Given the description of an element on the screen output the (x, y) to click on. 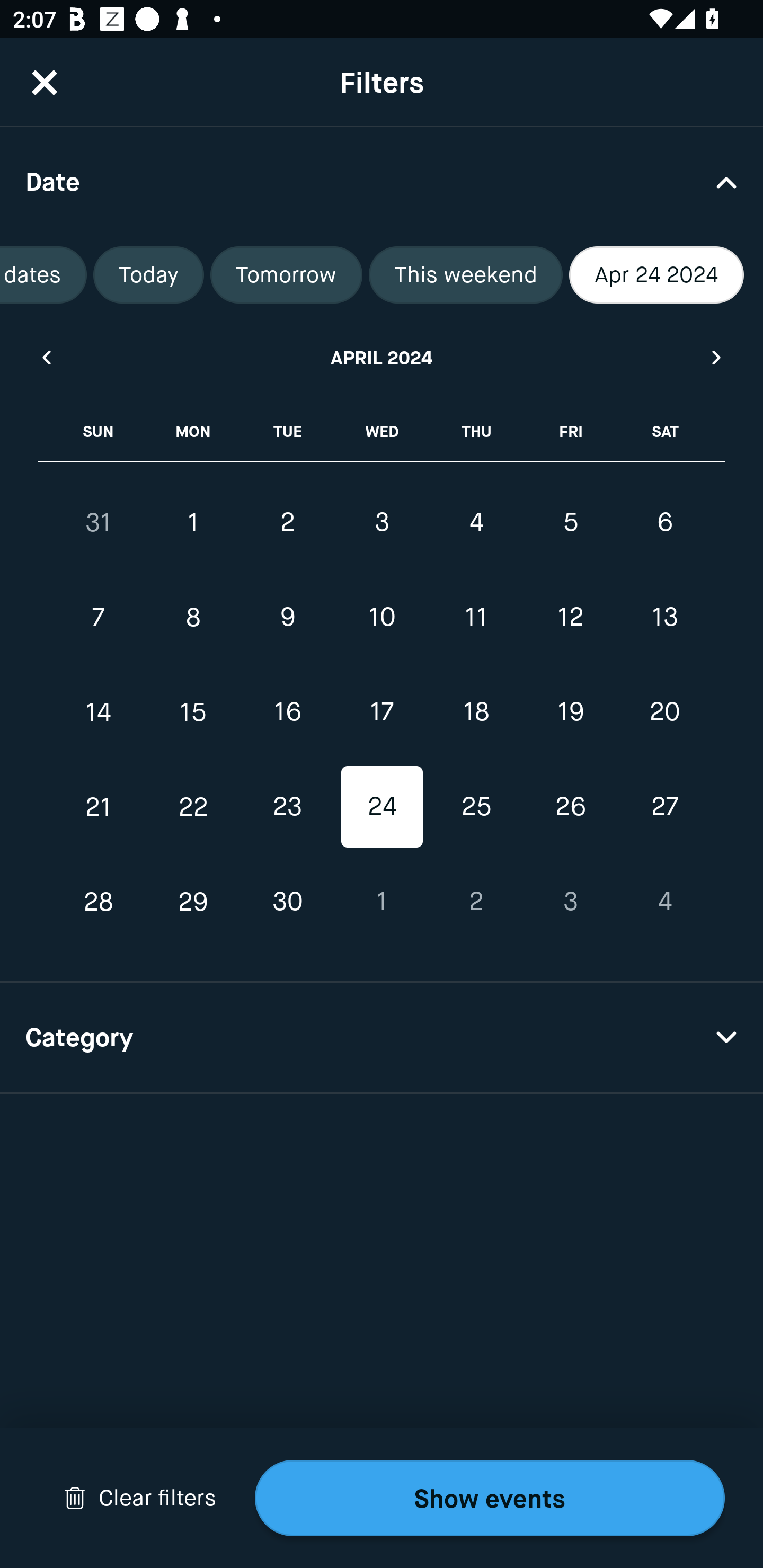
CloseButton (44, 82)
Date Drop Down Arrow (381, 181)
Today (148, 274)
Tomorrow (286, 274)
This weekend (465, 274)
Apr 24 2024 (656, 274)
Previous (45, 357)
Next (717, 357)
31 (98, 522)
1 (192, 522)
2 (287, 522)
3 (381, 522)
4 (475, 522)
5 (570, 522)
6 (664, 522)
7 (98, 617)
8 (192, 617)
9 (287, 617)
10 (381, 617)
11 (475, 617)
12 (570, 617)
13 (664, 617)
14 (98, 711)
15 (192, 711)
16 (287, 711)
17 (381, 711)
18 (475, 711)
19 (570, 711)
20 (664, 711)
21 (98, 806)
22 (192, 806)
23 (287, 806)
24 (381, 806)
25 (475, 806)
26 (570, 806)
27 (664, 806)
28 (98, 901)
29 (192, 901)
30 (287, 901)
1 (381, 901)
2 (475, 901)
3 (570, 901)
4 (664, 901)
Category Drop Down Arrow (381, 1038)
Drop Down Arrow Clear filters (139, 1497)
Show events (489, 1497)
